Given the description of an element on the screen output the (x, y) to click on. 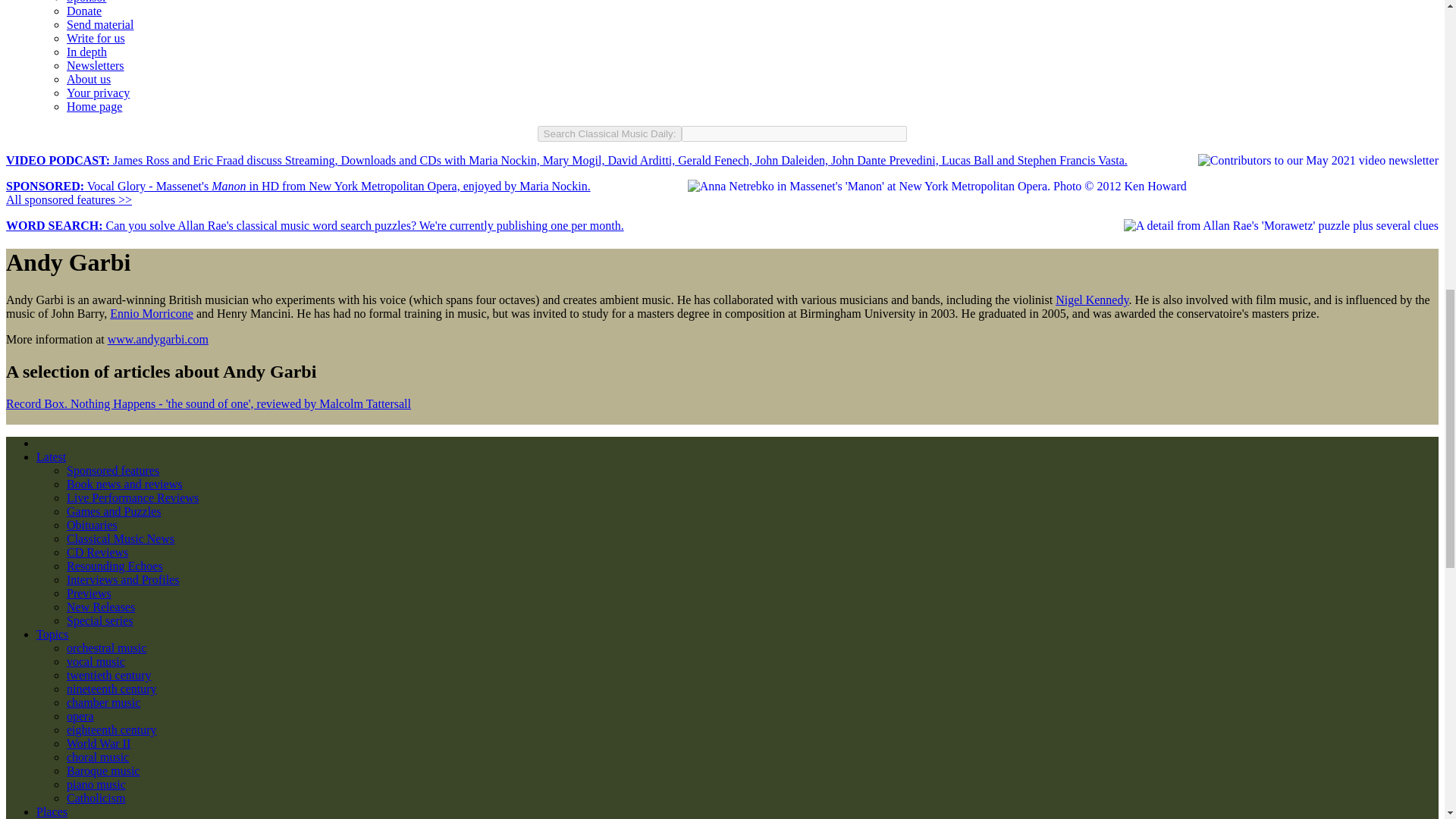
Search Classical Music Daily: (609, 133)
